Given the description of an element on the screen output the (x, y) to click on. 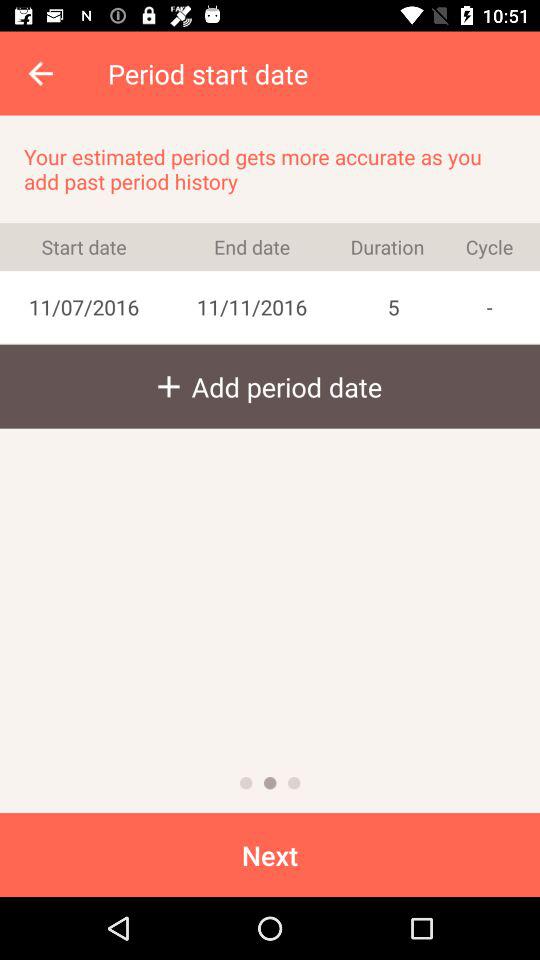
go to next (294, 783)
